Given the description of an element on the screen output the (x, y) to click on. 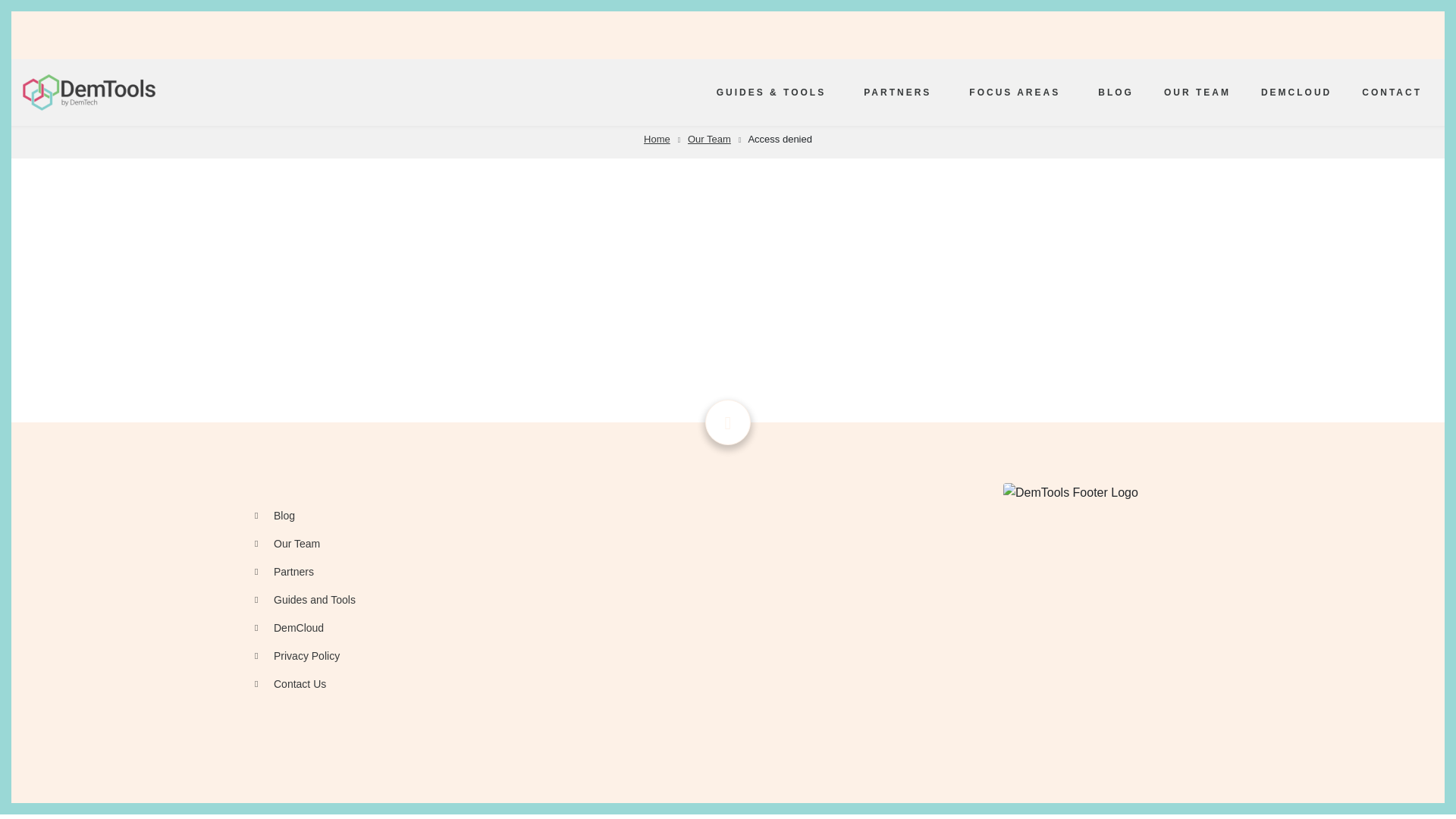
DEMCLOUD (1296, 92)
OUR TEAM (1197, 92)
Blog (606, 515)
Home (89, 91)
Contact Us (606, 684)
FOCUS AREAS (1017, 92)
Our Team (606, 543)
Search (1083, 33)
Guides and Tools (606, 600)
Home (656, 138)
Partners (606, 571)
Privacy Policy (606, 656)
DemCloud (606, 628)
PARTNERS (901, 92)
CONTACT (1395, 92)
